Given the description of an element on the screen output the (x, y) to click on. 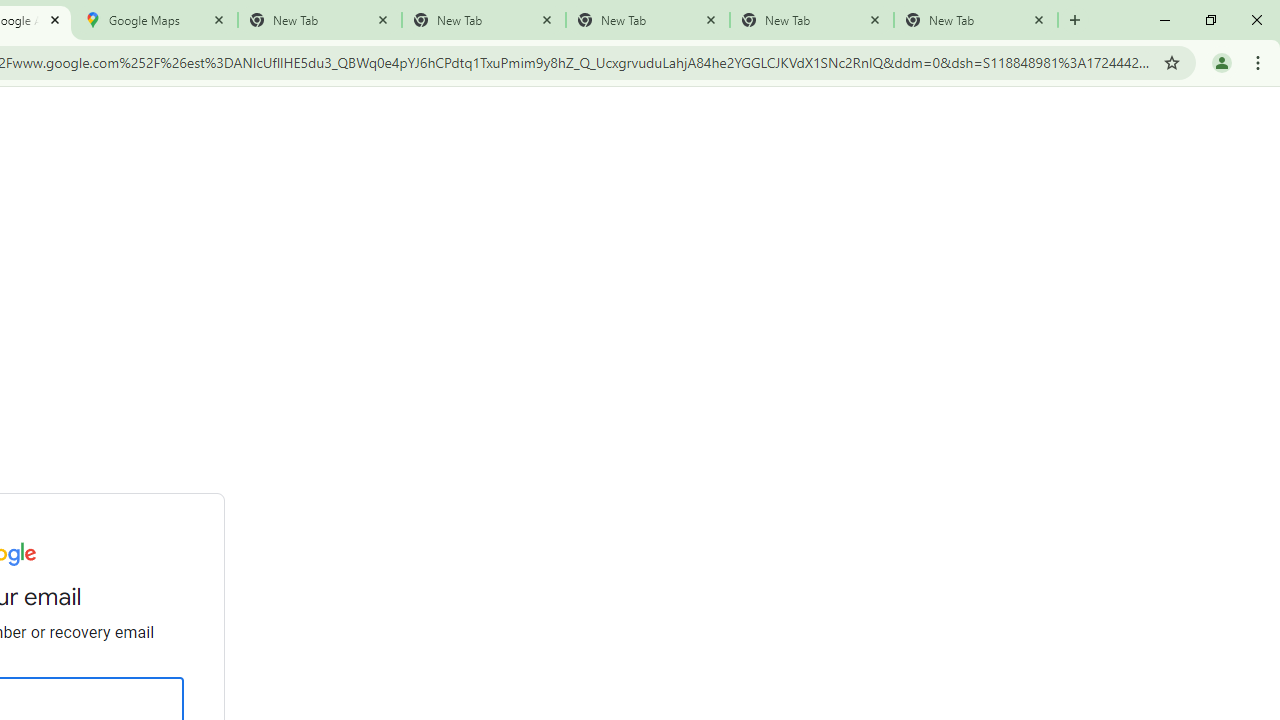
New Tab (975, 20)
Google Maps (156, 20)
